Given the description of an element on the screen output the (x, y) to click on. 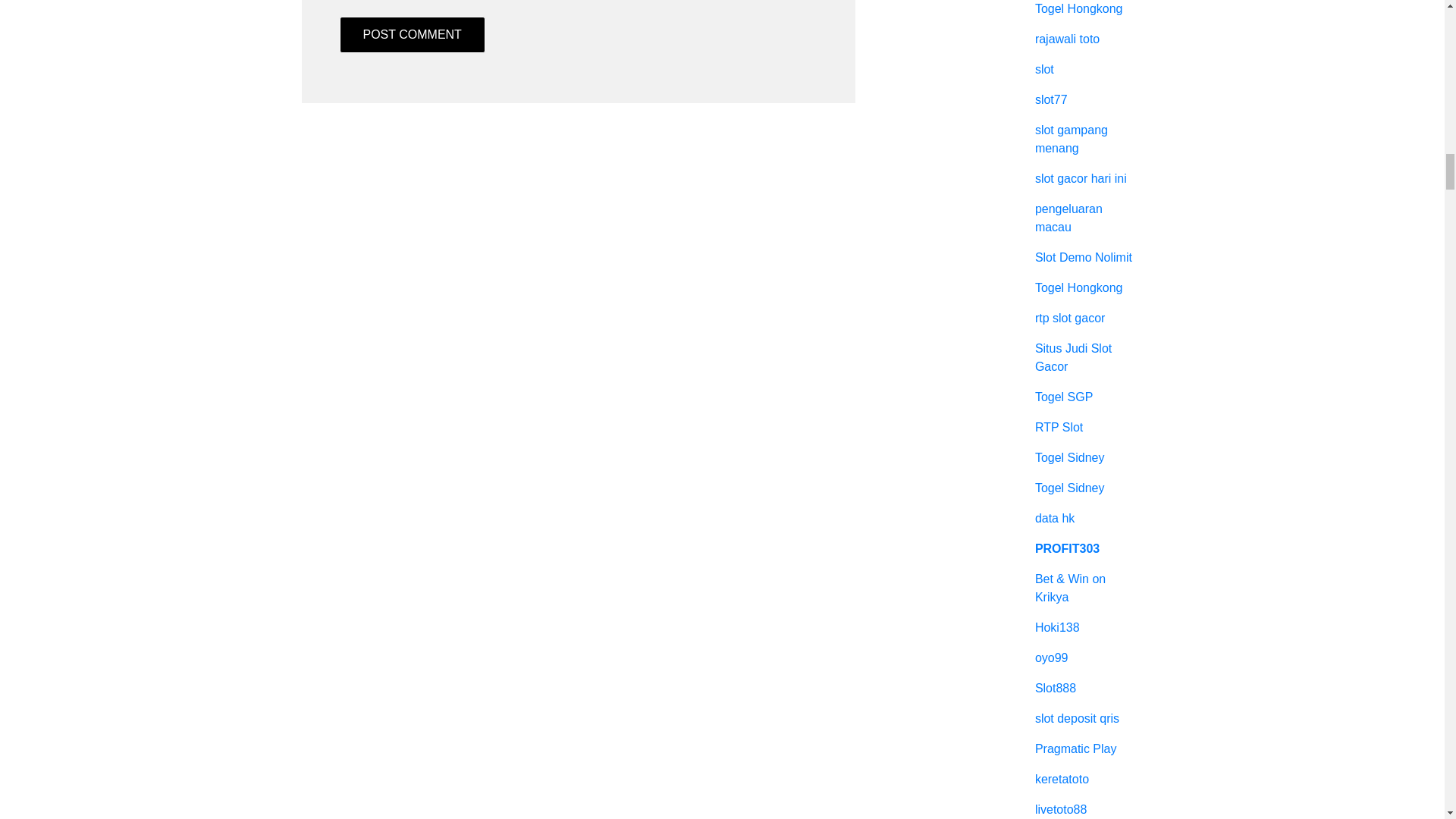
Post Comment (411, 34)
Post Comment (411, 34)
